Given the description of an element on the screen output the (x, y) to click on. 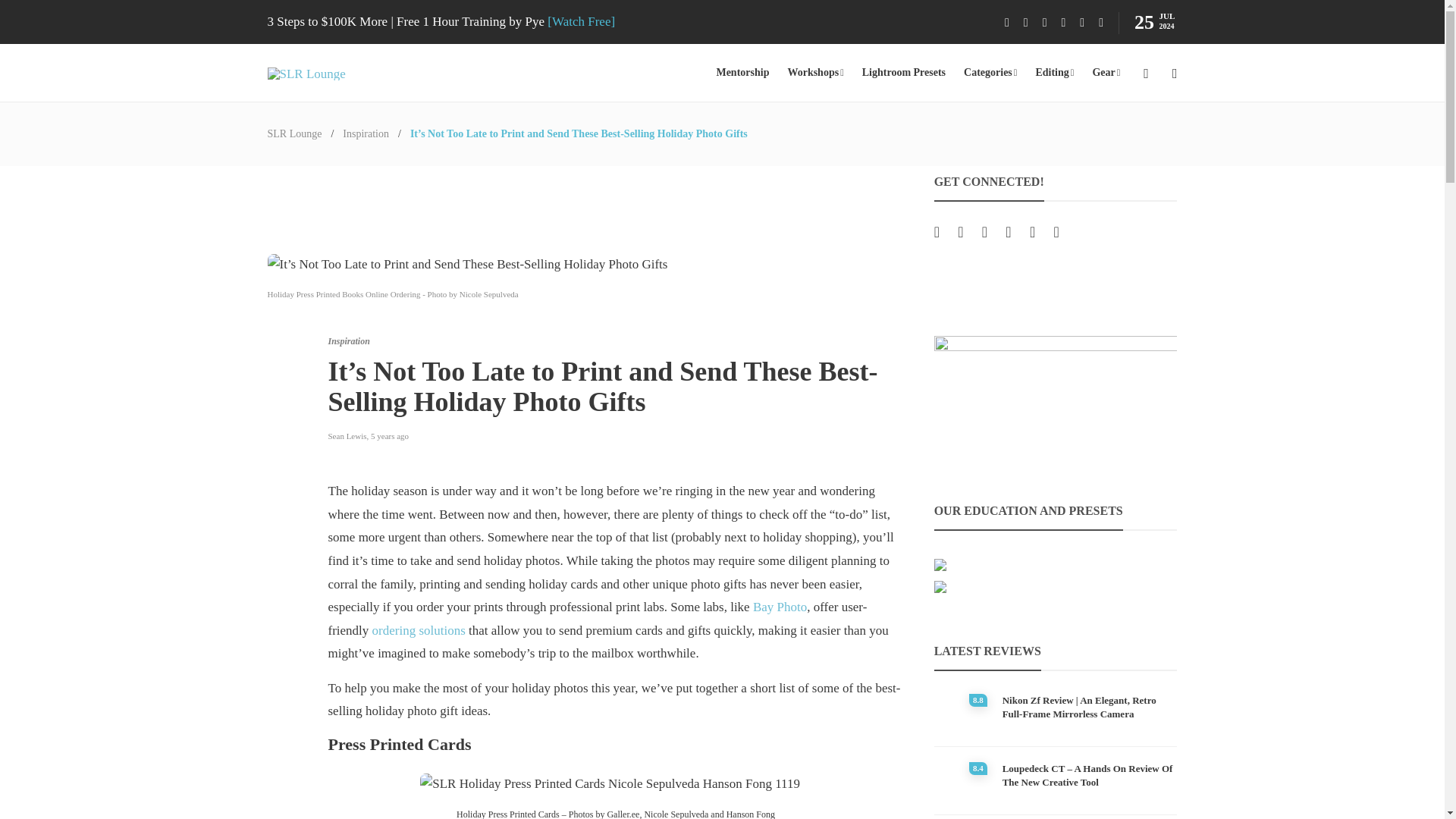
Editing (1054, 72)
SLR Lounge (293, 133)
Gear (1105, 72)
Categories (989, 72)
Workshops (815, 72)
Lightroom Presets (902, 72)
Mentorship (742, 72)
